Given the description of an element on the screen output the (x, y) to click on. 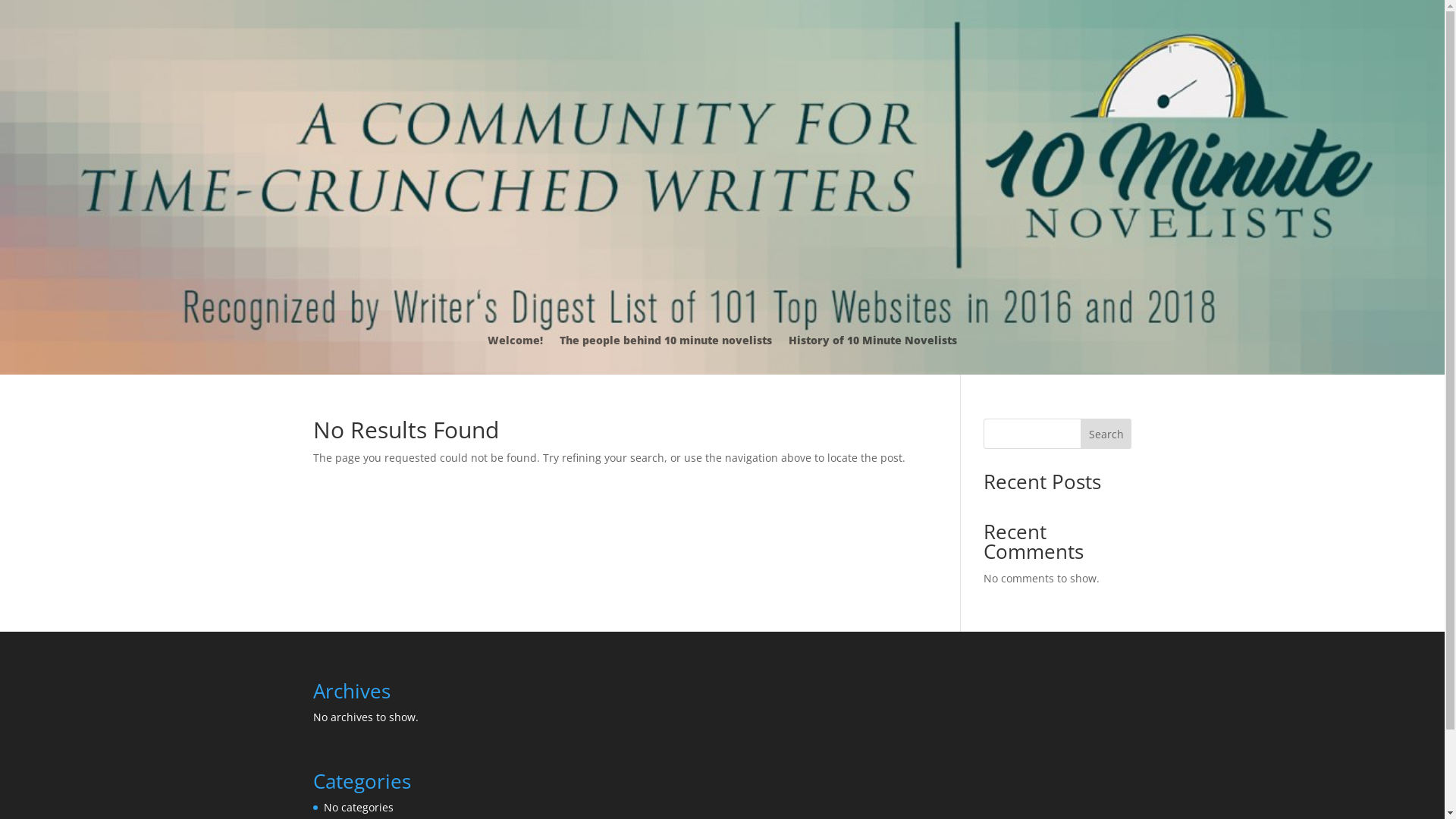
Welcome! Element type: text (514, 343)
The people behind 10 minute novelists Element type: text (665, 343)
History of 10 Minute Novelists Element type: text (872, 343)
Search Element type: text (1106, 433)
